Given the description of an element on the screen output the (x, y) to click on. 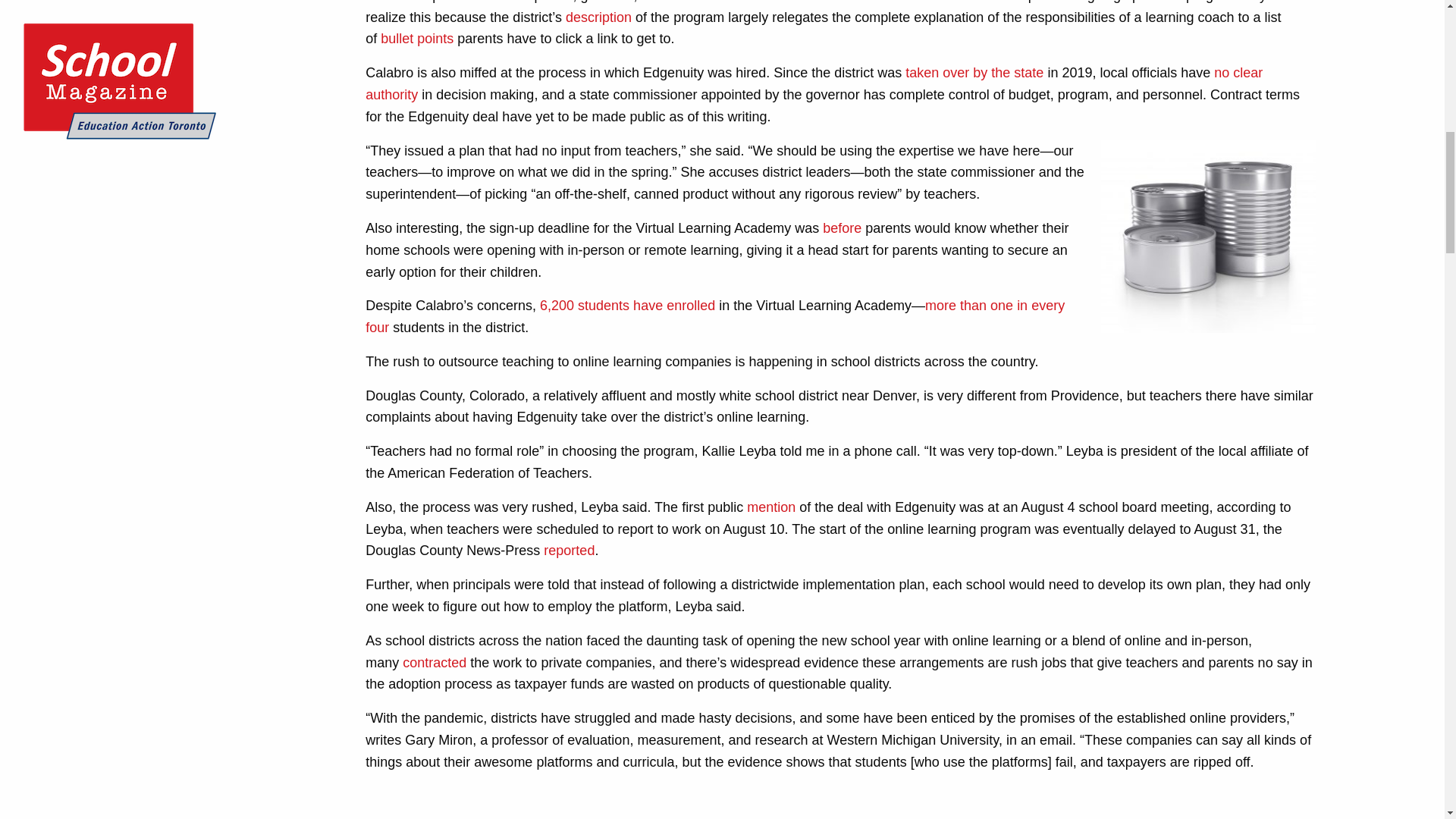
6,200 students have enrolled (627, 305)
taken over by the state (974, 72)
reported (568, 549)
before (841, 227)
mention (770, 507)
no clear authority (813, 83)
description (598, 17)
more than one in every four (714, 316)
contracted (434, 662)
bullet points (416, 38)
